Given the description of an element on the screen output the (x, y) to click on. 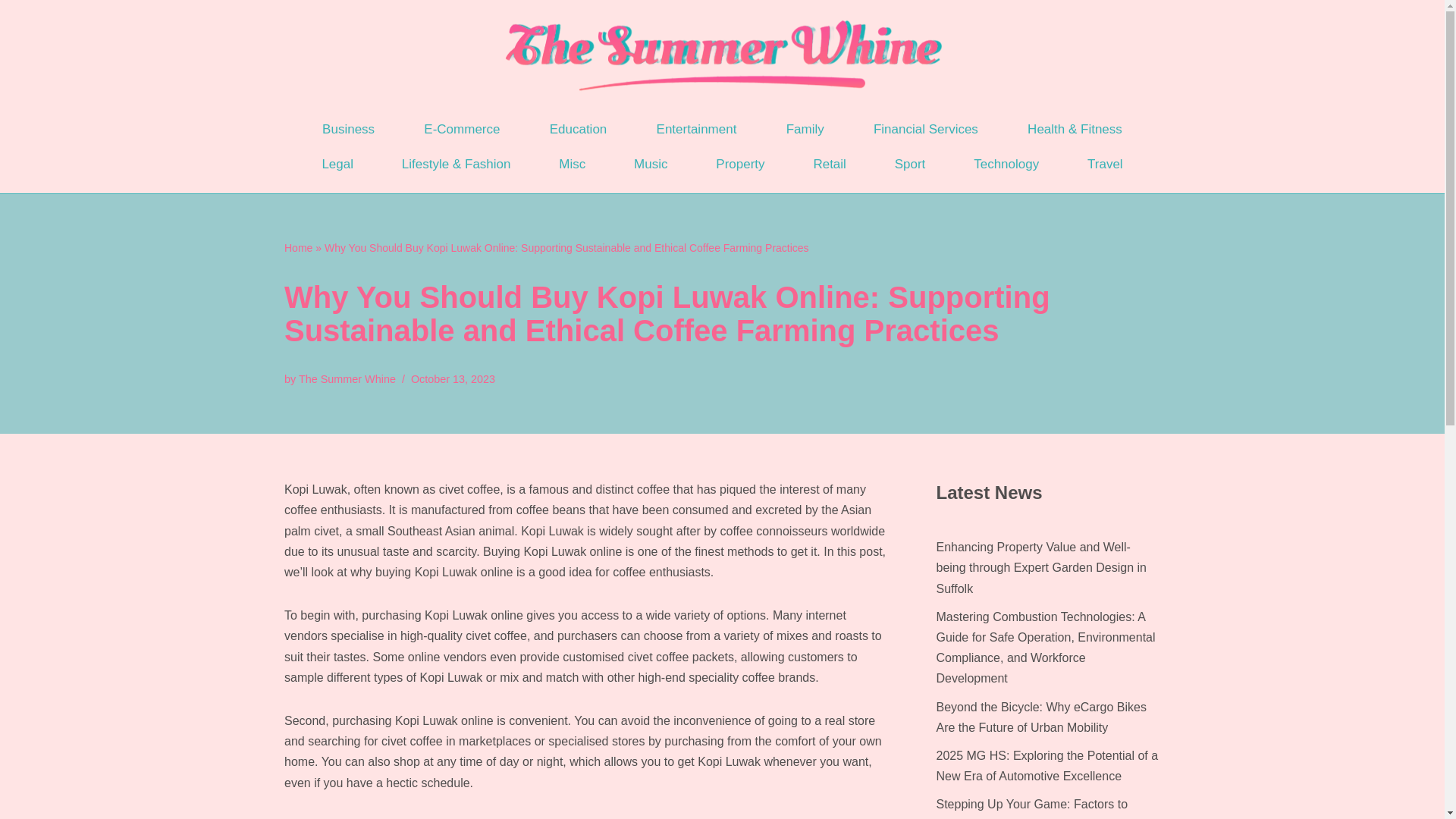
Family (804, 129)
Posts by The Summer Whine (347, 378)
Sport (909, 164)
Home (298, 247)
Financial Services (925, 129)
Music (650, 164)
Skip to content (11, 31)
Travel (1104, 164)
Technology (1005, 164)
The Summer Whine (347, 378)
Entertainment (696, 129)
Business (347, 129)
Legal (337, 164)
Misc (572, 164)
